Given the description of an element on the screen output the (x, y) to click on. 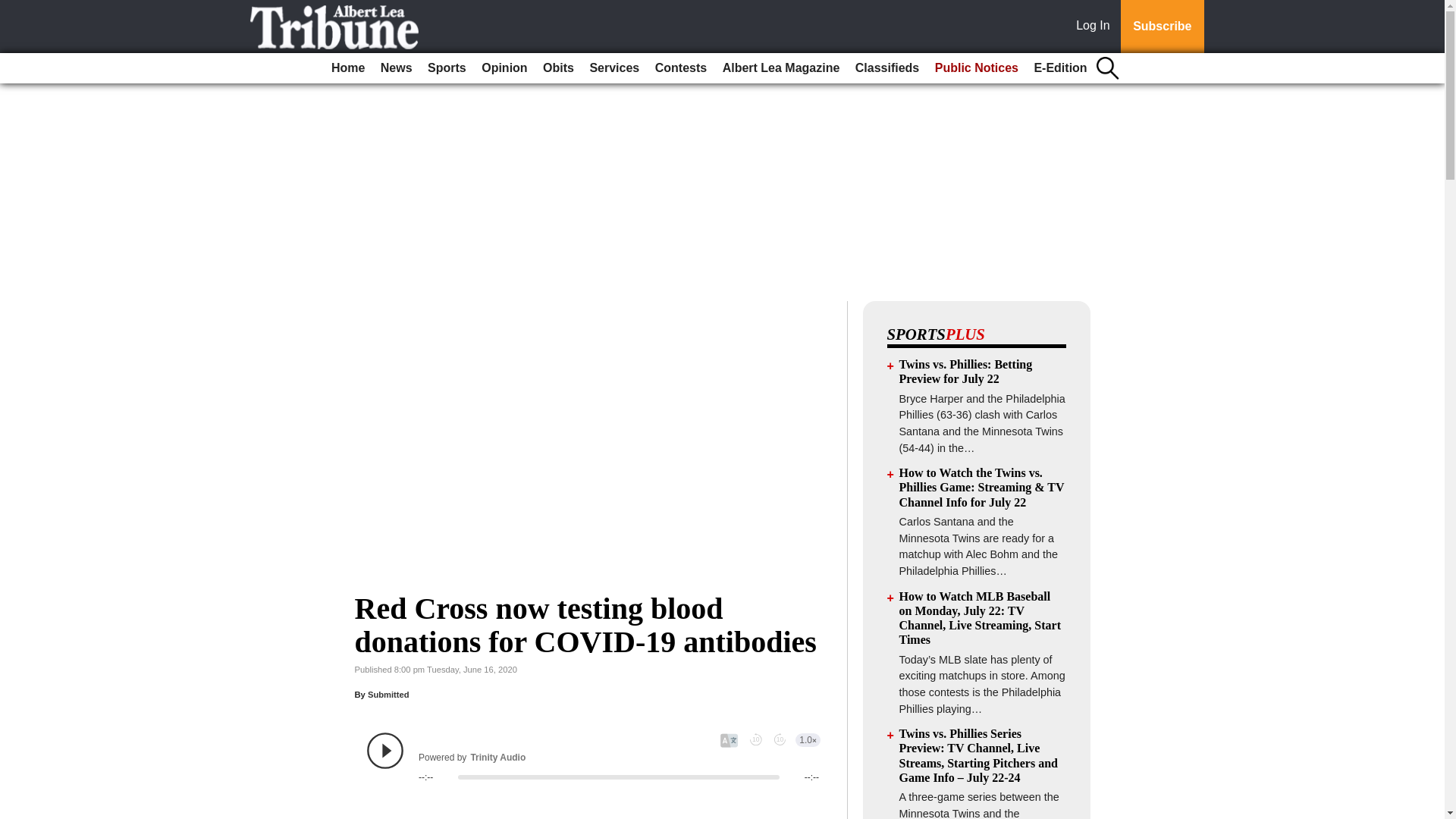
Sports (446, 68)
Trinity Audio Player (592, 757)
News (396, 68)
Services (614, 68)
Subscribe (1162, 26)
Obits (558, 68)
Home (347, 68)
Log In (1095, 26)
Opinion (504, 68)
